Given the description of an element on the screen output the (x, y) to click on. 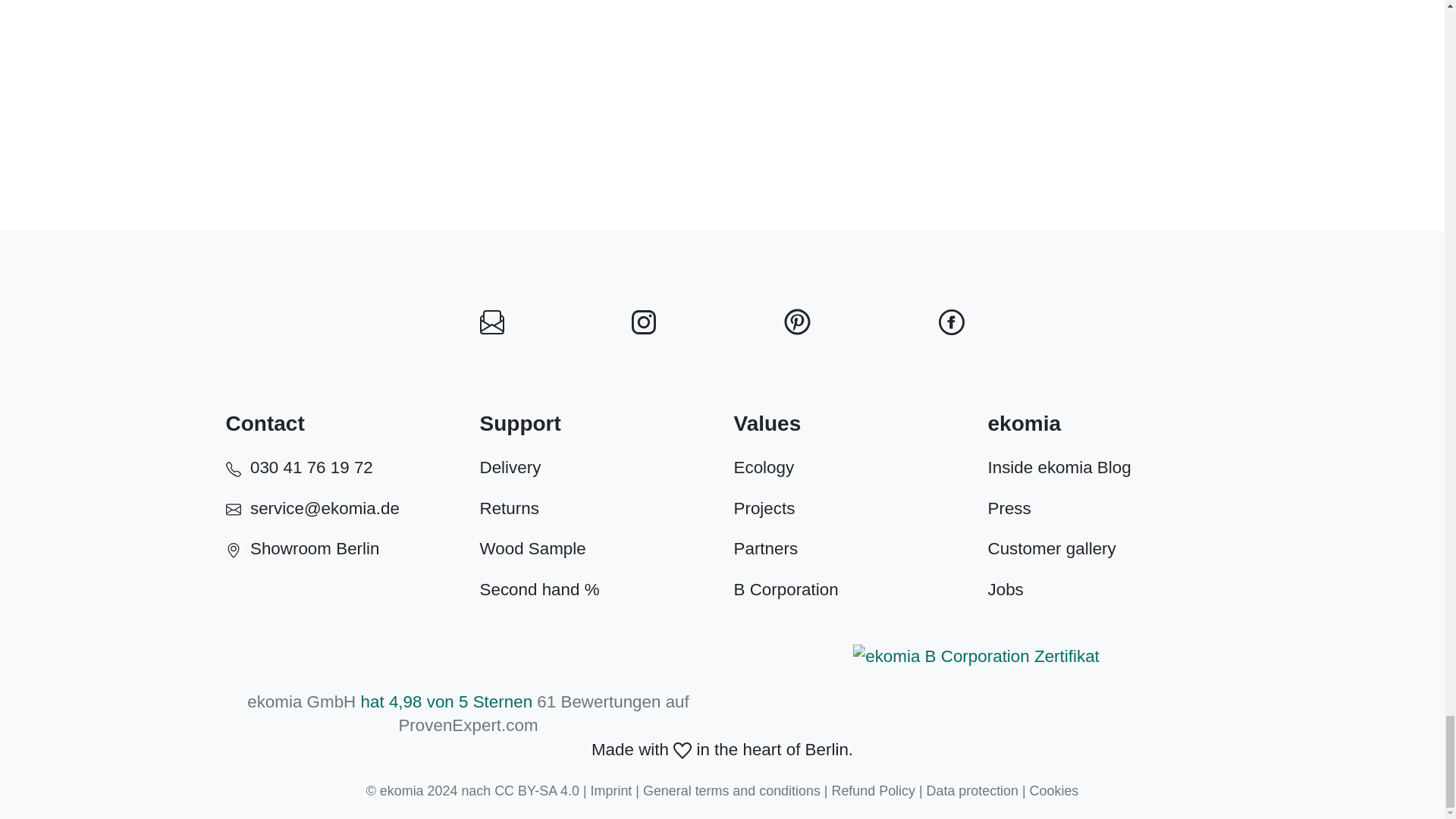
FastComments (721, 43)
